Given the description of an element on the screen output the (x, y) to click on. 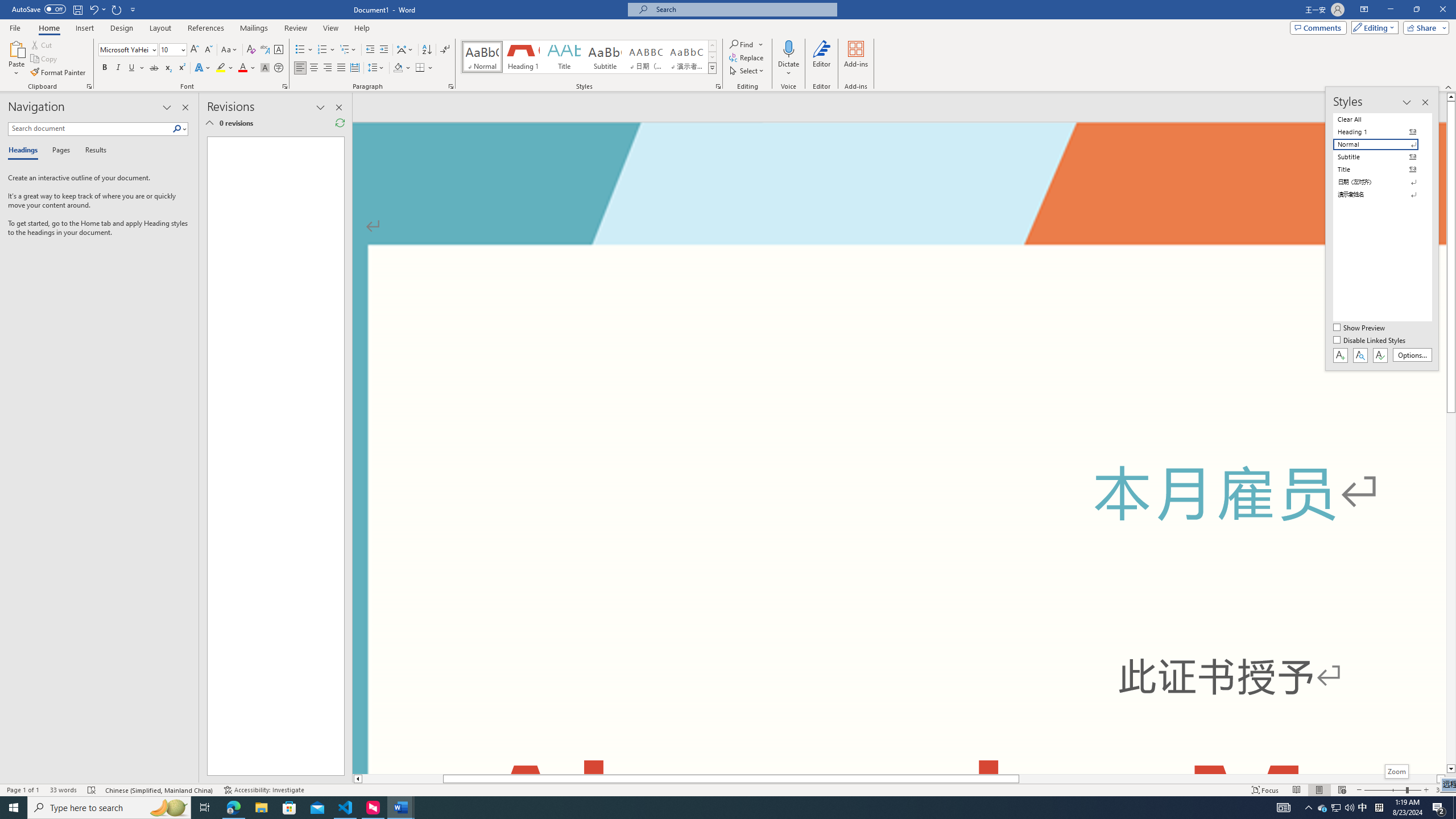
Column right (1441, 778)
Repeat Doc Close (117, 9)
Undo Paragraph Alignment (96, 9)
